Given the description of an element on the screen output the (x, y) to click on. 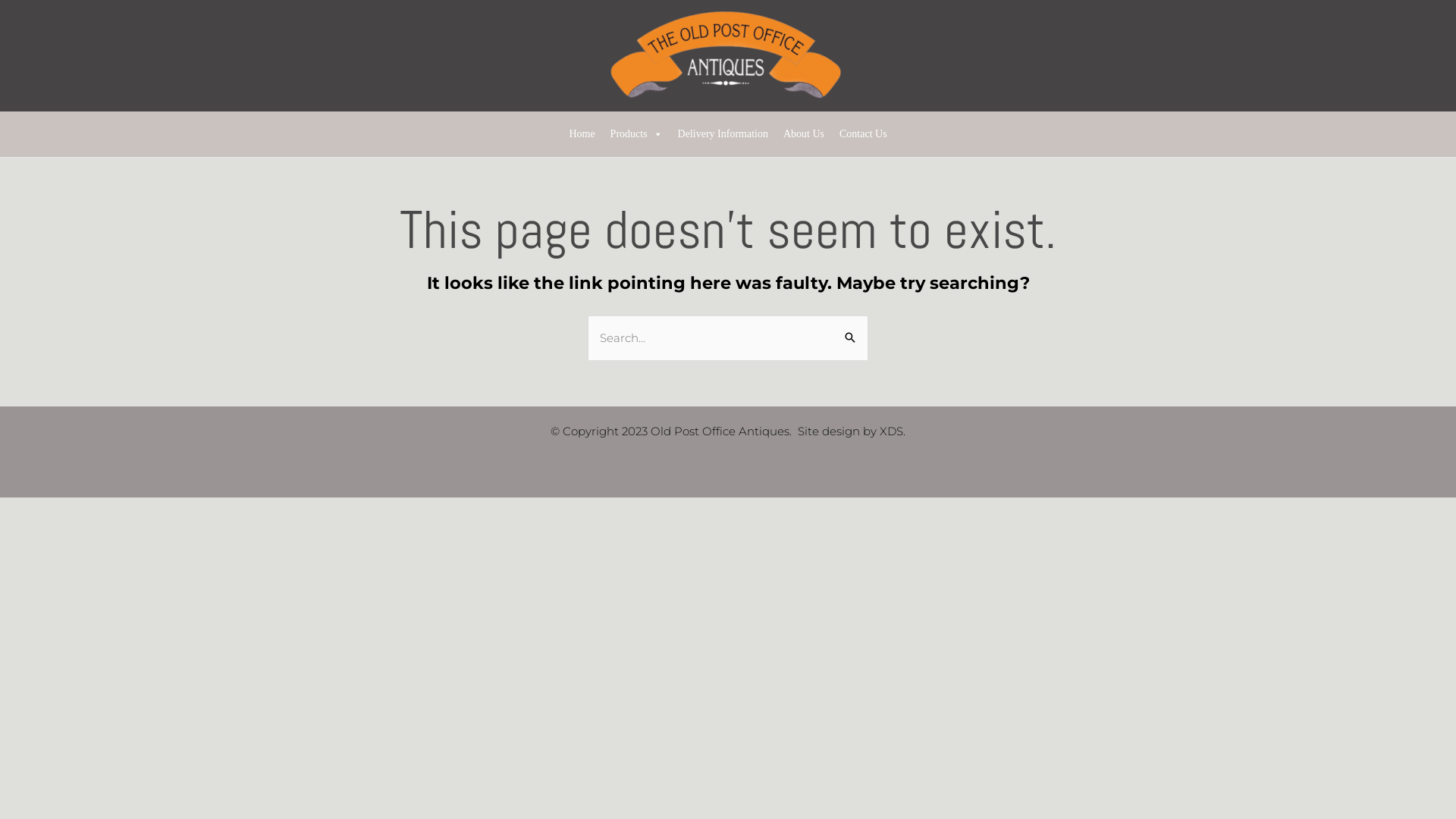
Contact Us Element type: text (862, 134)
About Us Element type: text (803, 134)
Delivery Information Element type: text (722, 134)
Search Element type: text (851, 331)
Home Element type: text (581, 134)
Products Element type: text (636, 134)
